Given the description of an element on the screen output the (x, y) to click on. 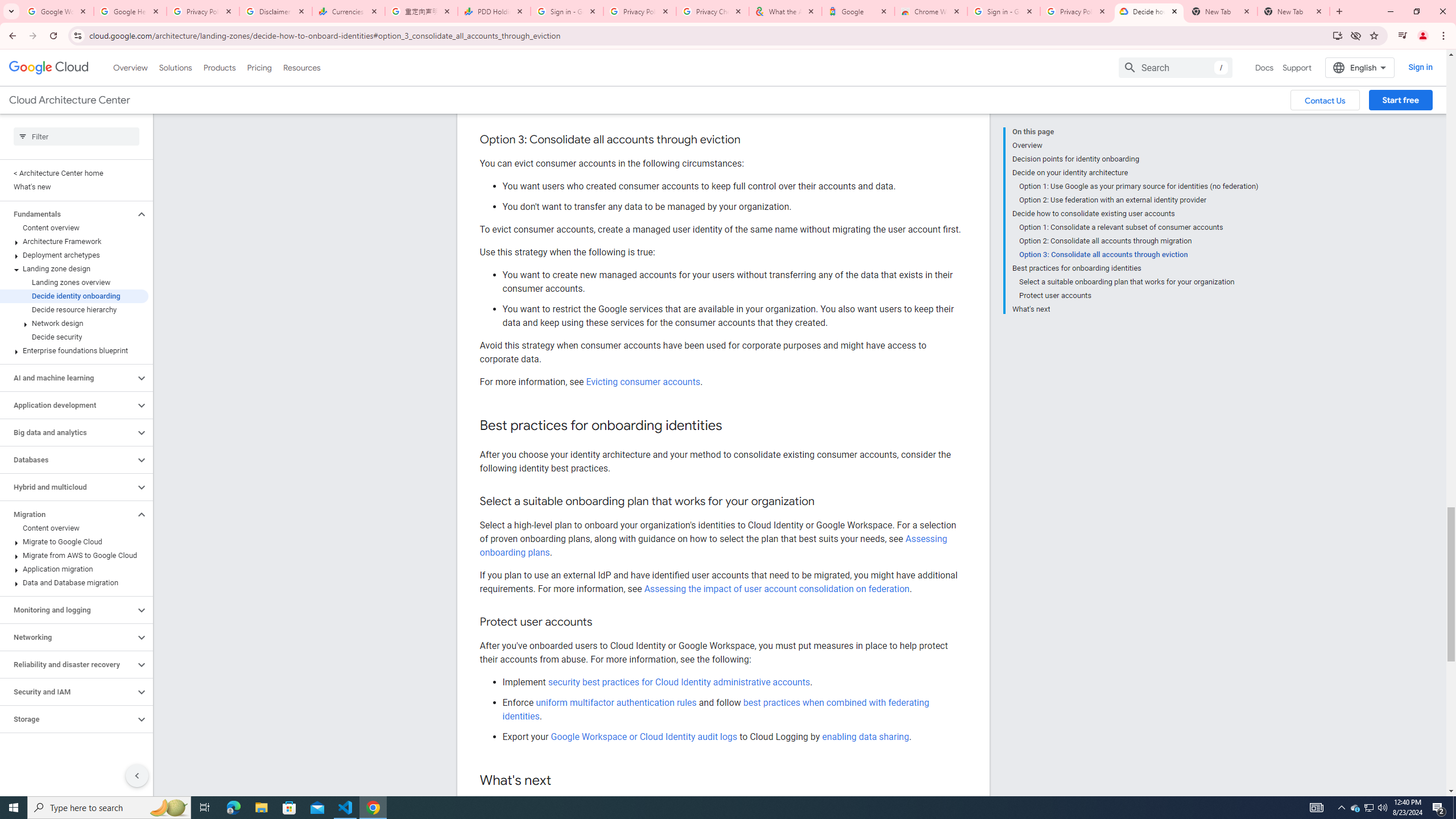
Databases (67, 459)
uniform multifactor authentication rules  (616, 702)
Option 2: Consolidate all accounts through migration (1138, 241)
Privacy Checkup (712, 11)
Network design (74, 323)
Architecture Framework (74, 241)
Option 1: Consolidate a relevant subset of consumer accounts (1138, 227)
Contact Us (1324, 100)
Migrating consumer accounts (646, 106)
Solutions (175, 67)
Enterprise foundations blueprint (74, 350)
